Given the description of an element on the screen output the (x, y) to click on. 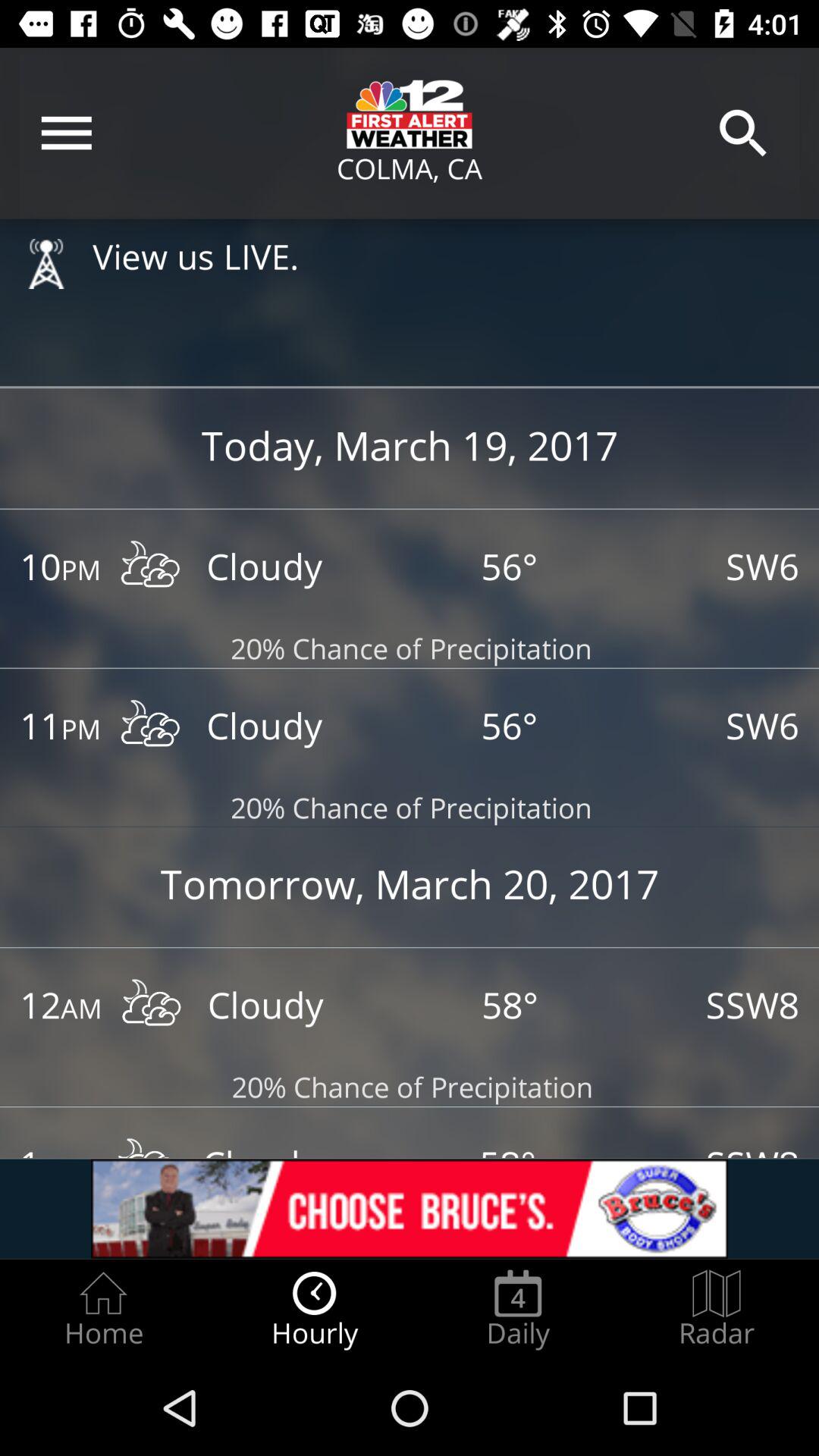
go to icon left side of view us live (45, 263)
select the bottom second right buttondaily (518, 1309)
select the radar option (716, 1309)
cloud symbol between 11pm and cloudy (150, 727)
